Given the description of an element on the screen output the (x, y) to click on. 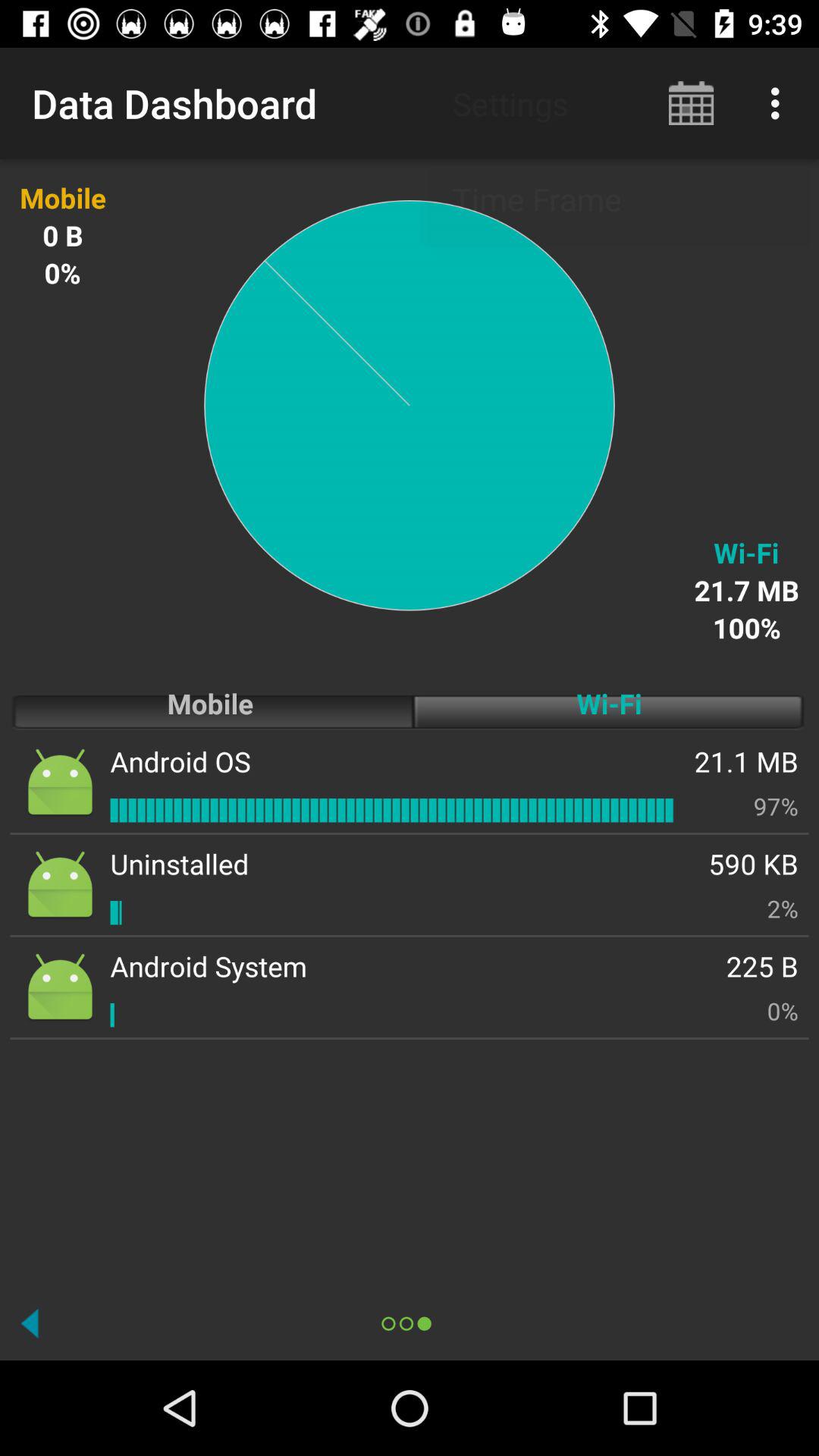
turn on the icon below 590 kb icon (782, 908)
